Given the description of an element on the screen output the (x, y) to click on. 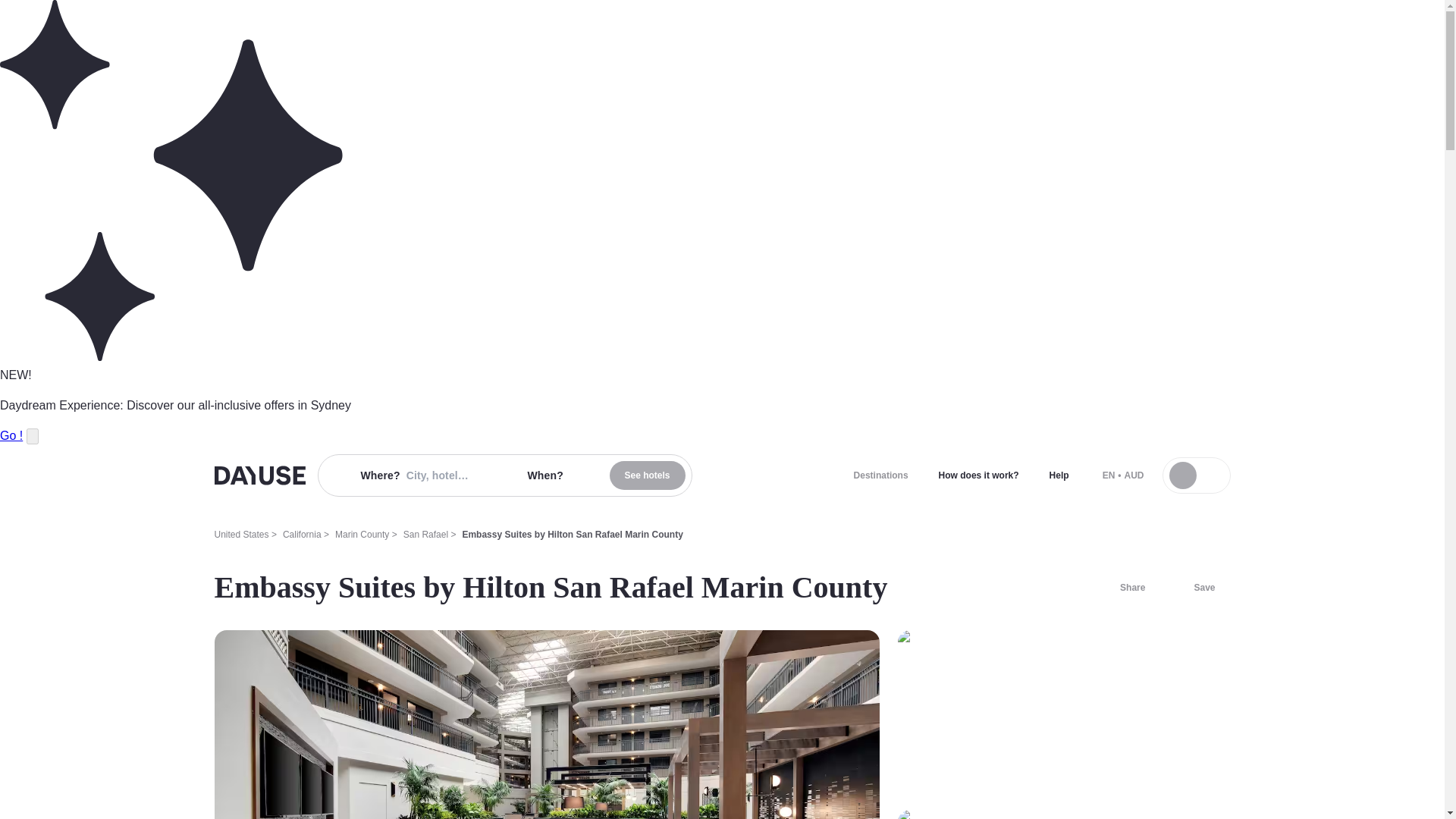
California (301, 534)
Help (1058, 474)
Save (1195, 587)
How does it work? (978, 474)
United States (240, 534)
Share (1123, 587)
San Rafael (425, 534)
Dayuse (259, 475)
Destinations (880, 474)
Marin County (361, 534)
See hotels (647, 475)
